Given the description of an element on the screen output the (x, y) to click on. 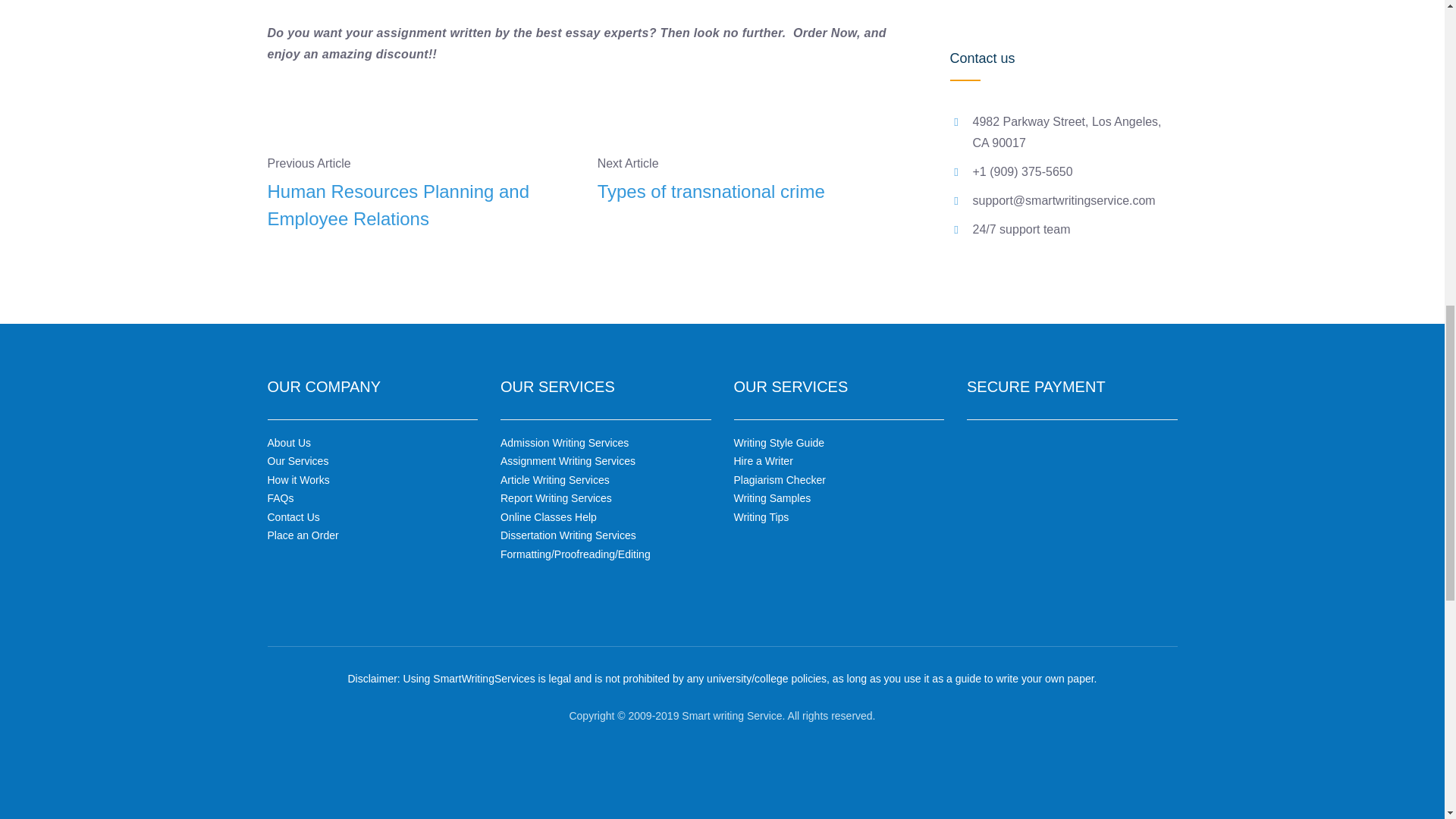
OUR COMPANY (323, 386)
Writing Style Guide (779, 442)
OUR SERVICES (790, 386)
Contact Us (292, 517)
Writing Samples (771, 498)
OUR SERVICES (557, 386)
FAQs (280, 498)
Assignment Writing Services (567, 460)
Dissertation Writing Services (568, 535)
Article Writing Services (555, 480)
